Given the description of an element on the screen output the (x, y) to click on. 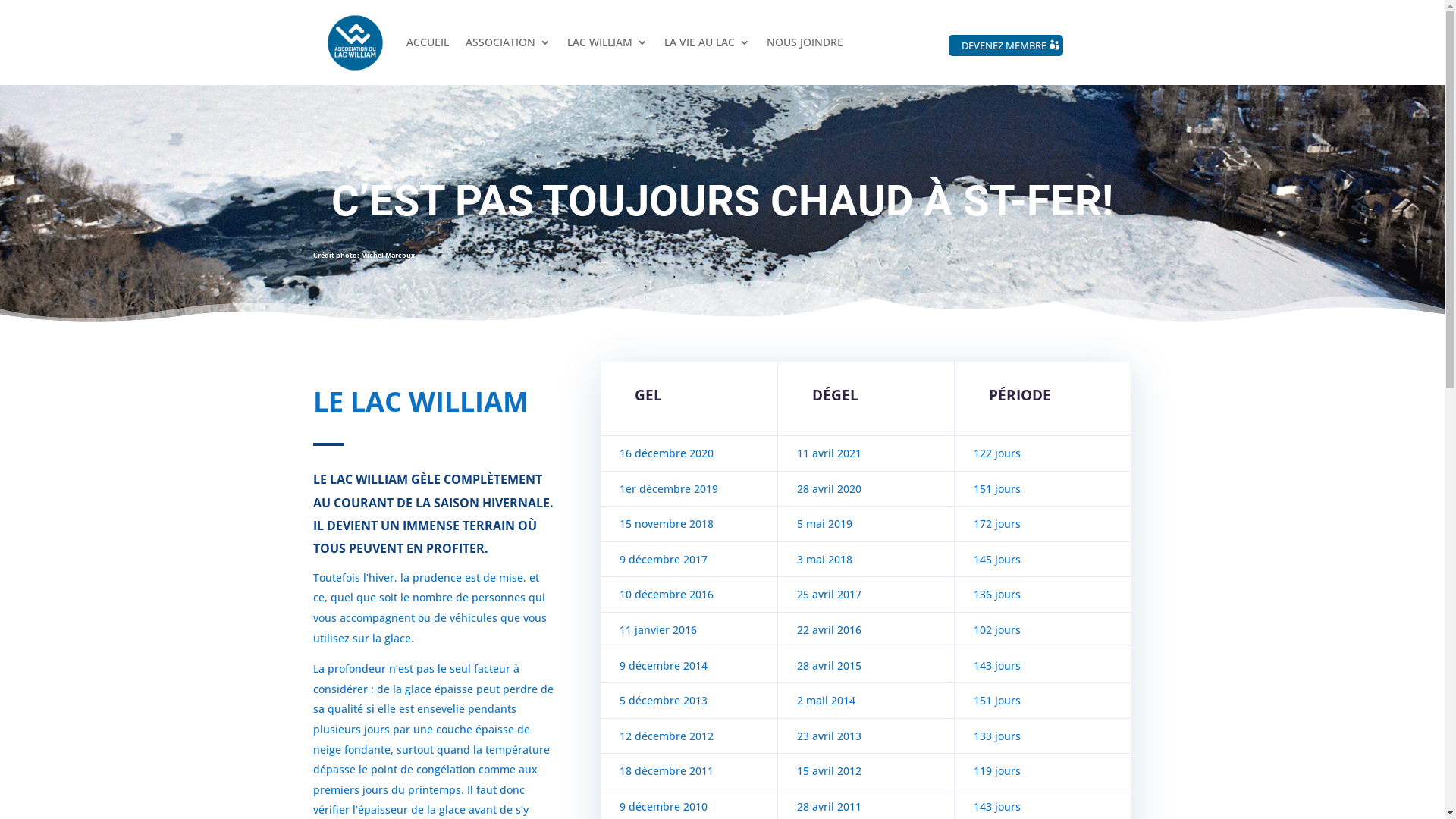
NOUS JOINDRE Element type: text (803, 42)
ACCUEIL Element type: text (427, 42)
DEVENEZ MEMBRE Element type: text (1005, 45)
ASSOCIATION Element type: text (507, 42)
LAC WILLIAM Element type: text (607, 42)
LA VIE AU LAC Element type: text (706, 42)
